Given the description of an element on the screen output the (x, y) to click on. 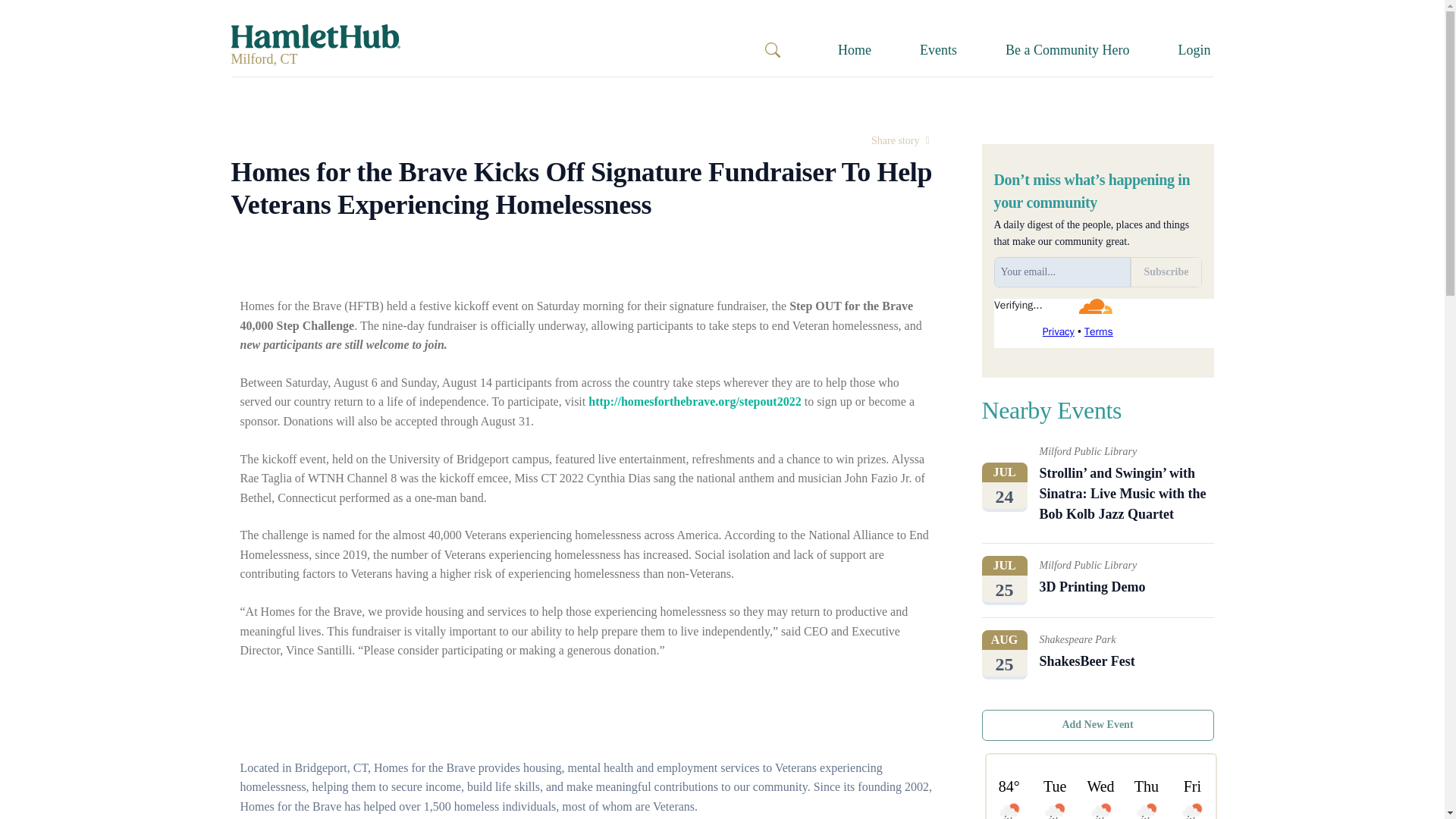
Events (938, 50)
Home (854, 50)
Add New Event (1096, 725)
Login (1194, 50)
Share story (900, 141)
Subscribe (1166, 272)
Milford, CT (263, 58)
Be a Community Hero (1096, 654)
3rd party ad content (1096, 580)
